Given the description of an element on the screen output the (x, y) to click on. 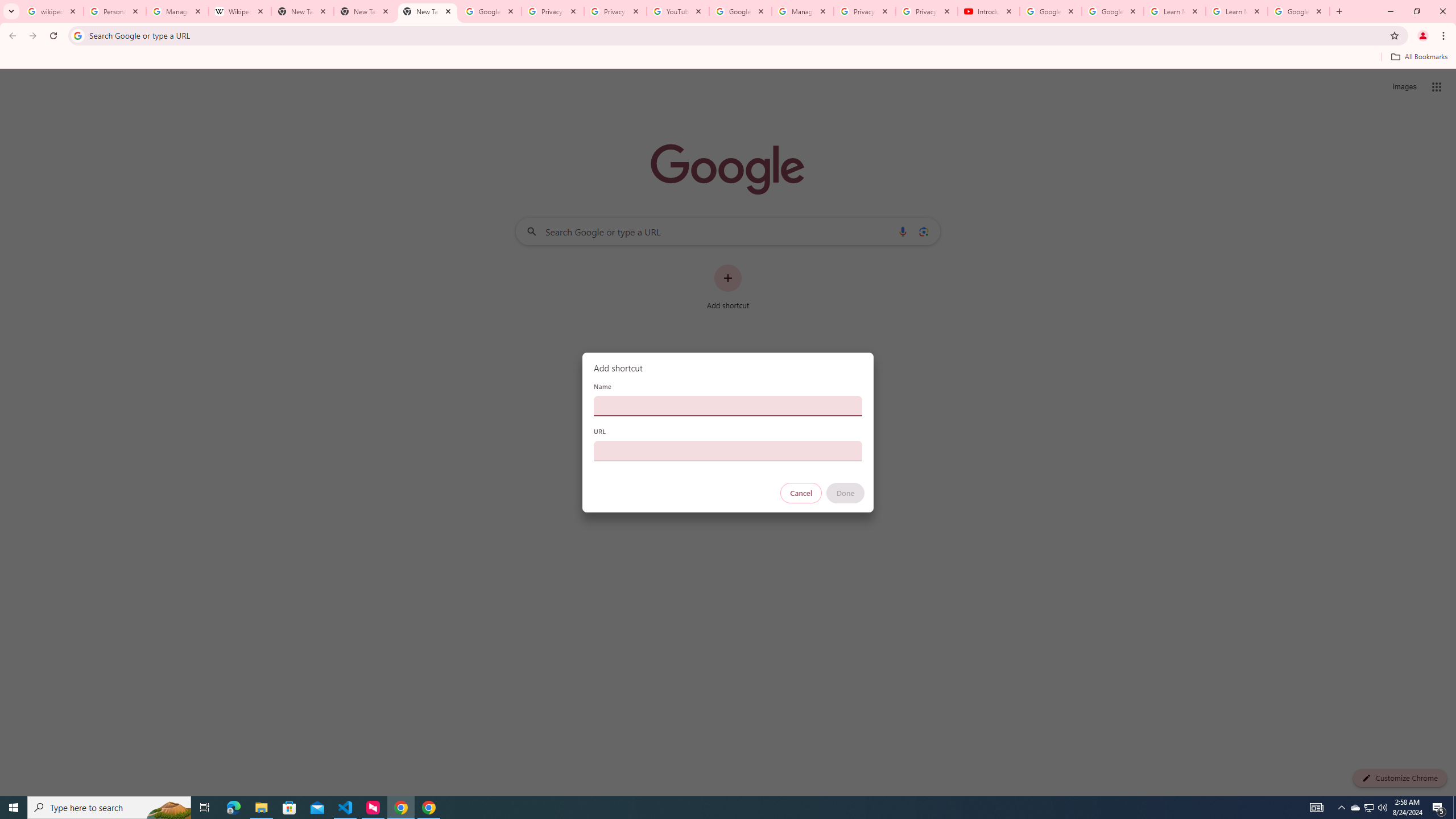
YouTube (678, 11)
URL (727, 450)
